Given the description of an element on the screen output the (x, y) to click on. 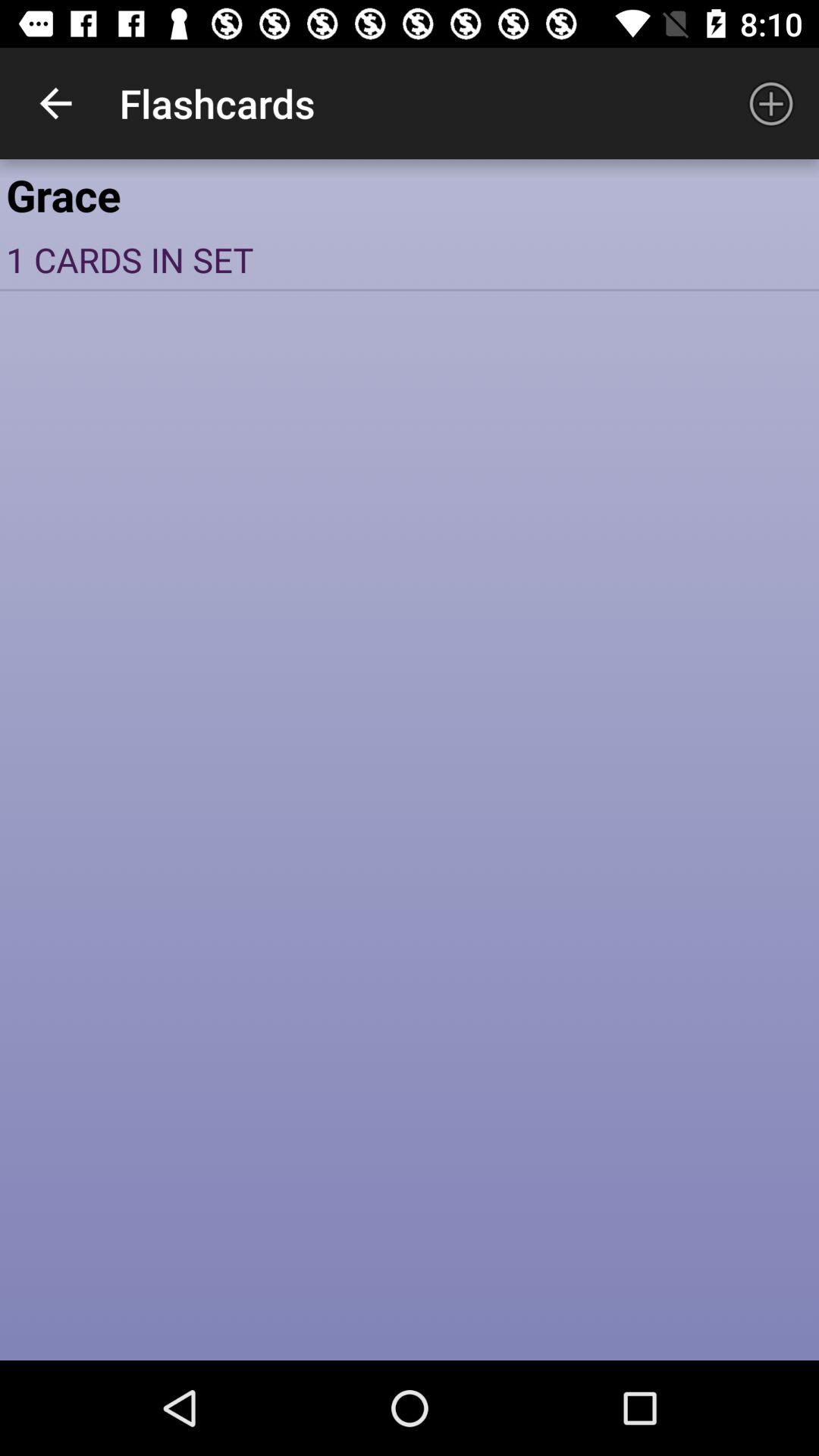
flip to the grace item (409, 194)
